Given the description of an element on the screen output the (x, y) to click on. 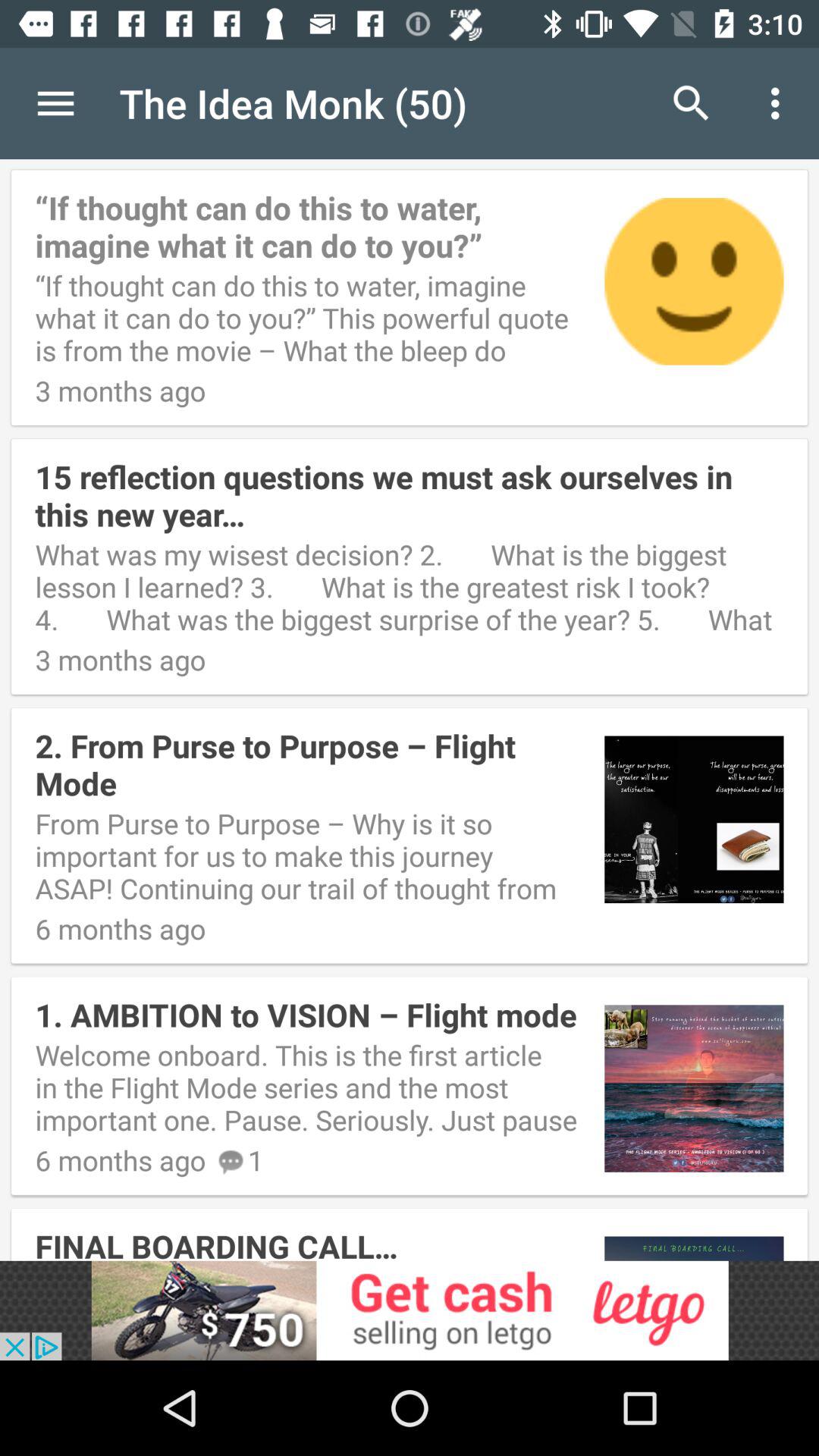
advertisement for a platform letgo (409, 1310)
